Given the description of an element on the screen output the (x, y) to click on. 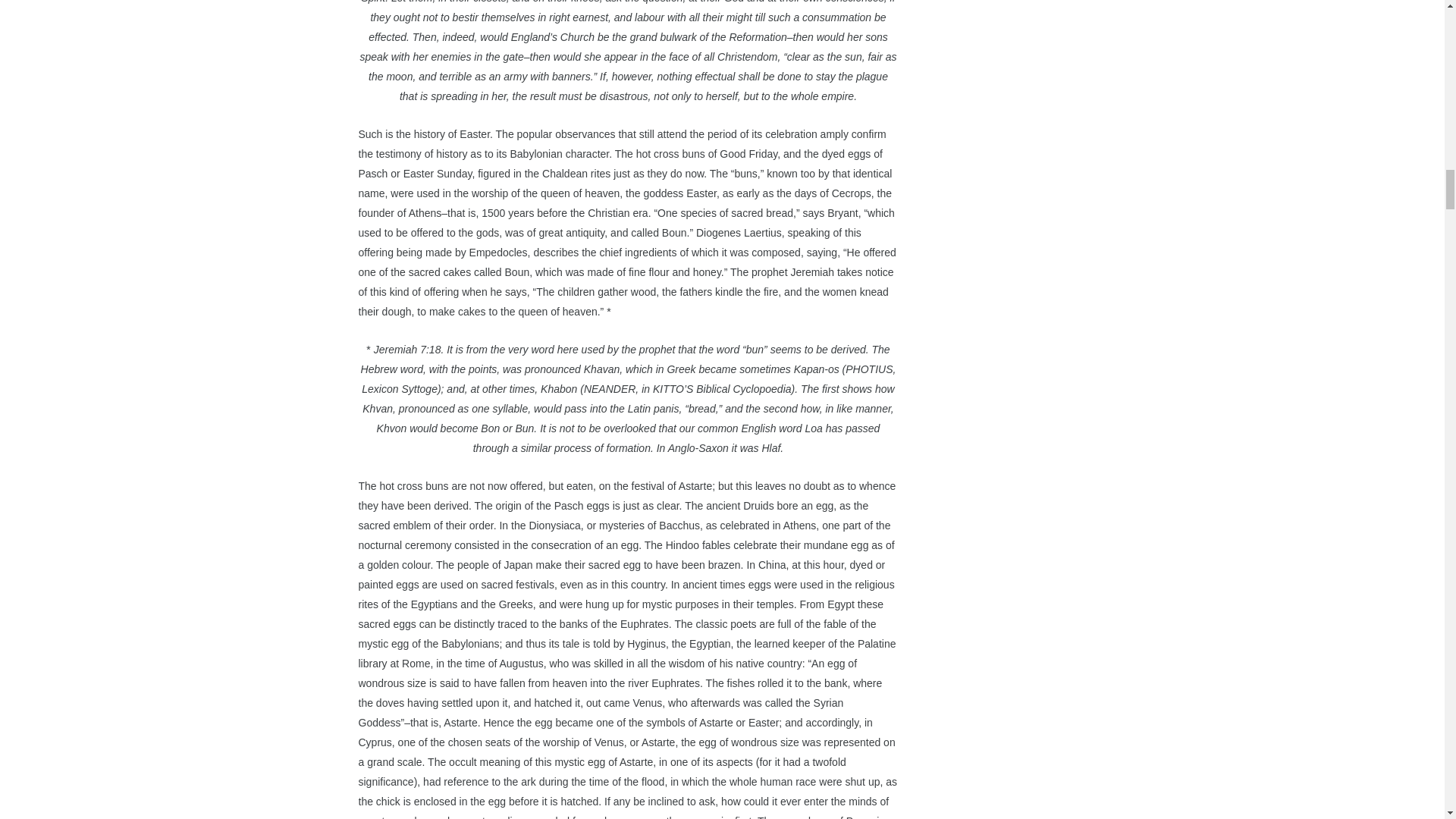
Page 95 (628, 53)
